Given the description of an element on the screen output the (x, y) to click on. 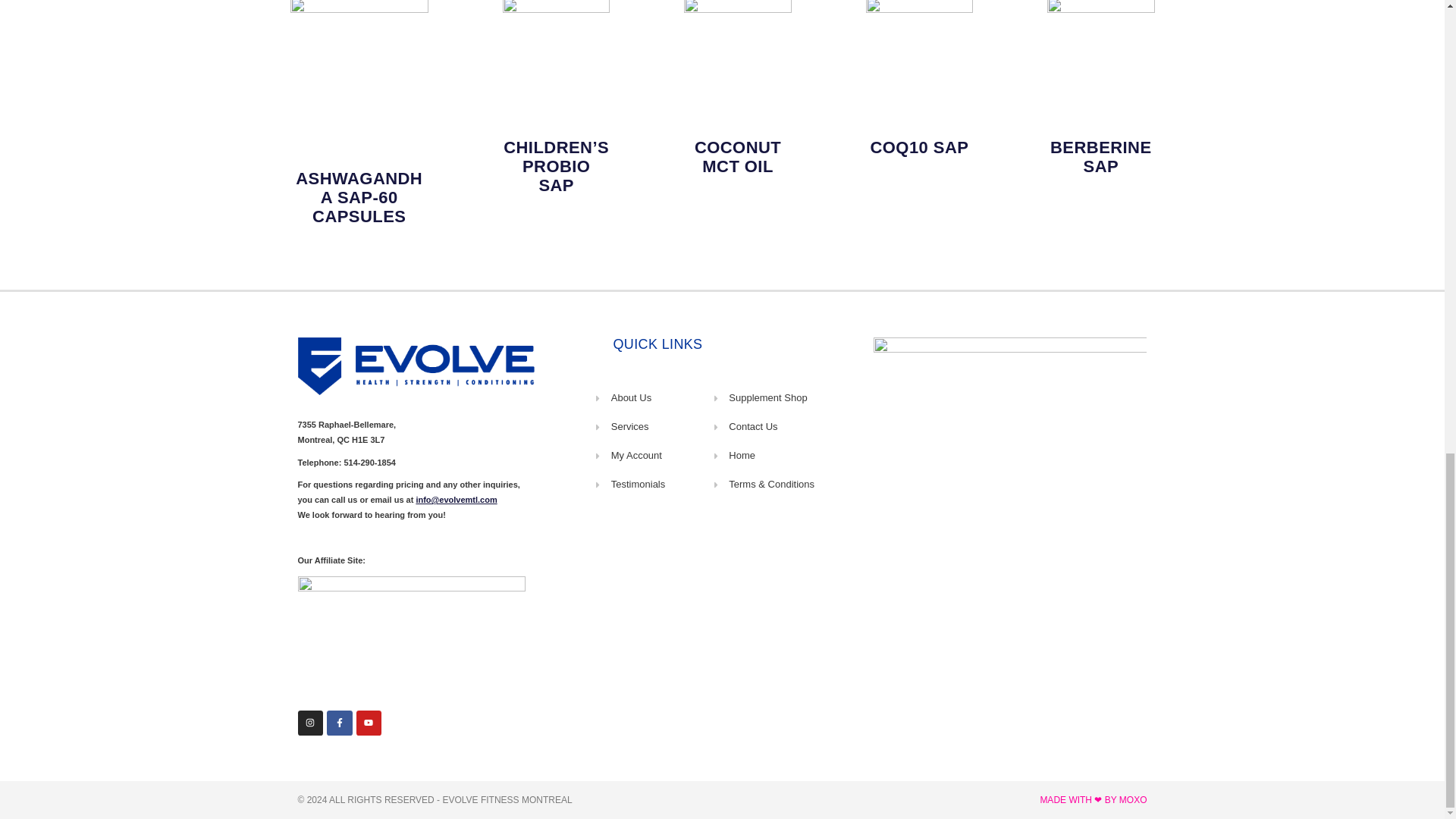
COCONUT MCT OIL (737, 157)
ASHWAGANDHA SAP-60 CAPSULES (358, 197)
BERBERINE SAP (1100, 157)
COQ10 SAP (918, 147)
